Given the description of an element on the screen output the (x, y) to click on. 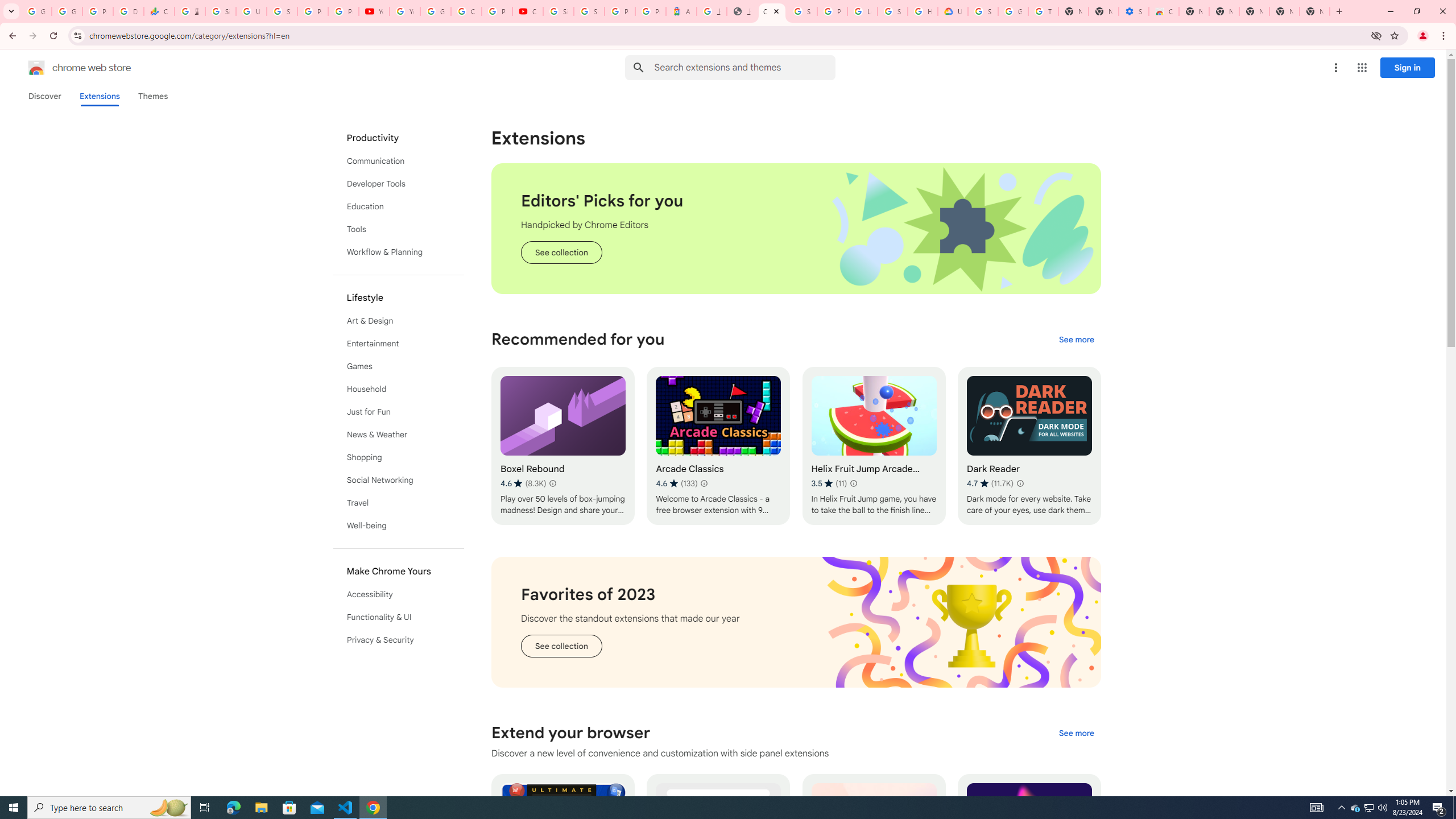
News & Weather (398, 434)
Just for Fun (398, 411)
Themes (152, 95)
Shopping (398, 456)
Games (398, 365)
Dark Reader (1028, 445)
Google Account Help (434, 11)
Atour Hotel - Google hotels (681, 11)
Create your Google Account (465, 11)
Boxel Rebound (562, 445)
Average rating 3.5 out of 5 stars. 11 ratings. (828, 482)
